Given the description of an element on the screen output the (x, y) to click on. 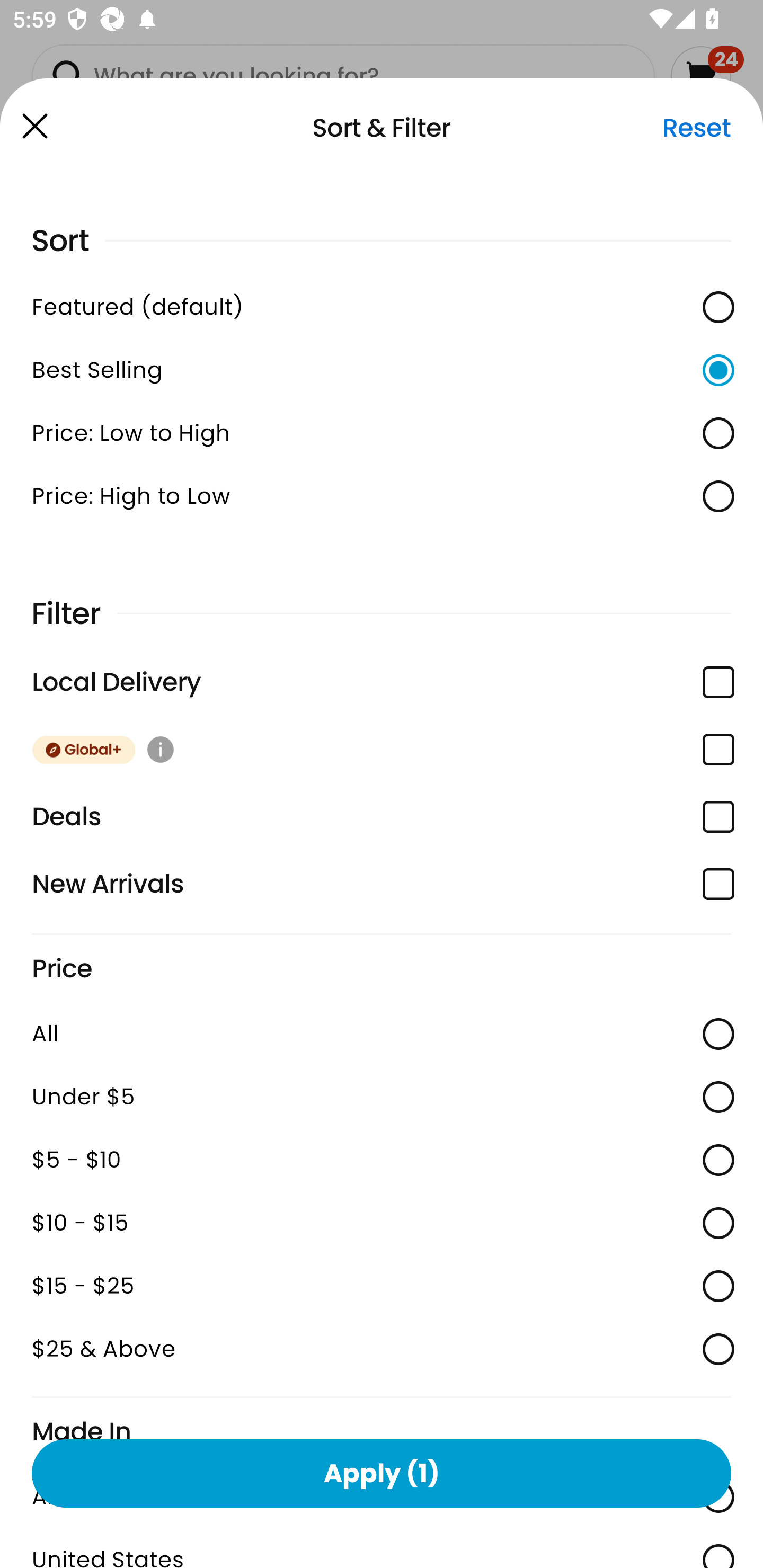
Reset (696, 127)
Apply (1) (381, 1472)
